Given the description of an element on the screen output the (x, y) to click on. 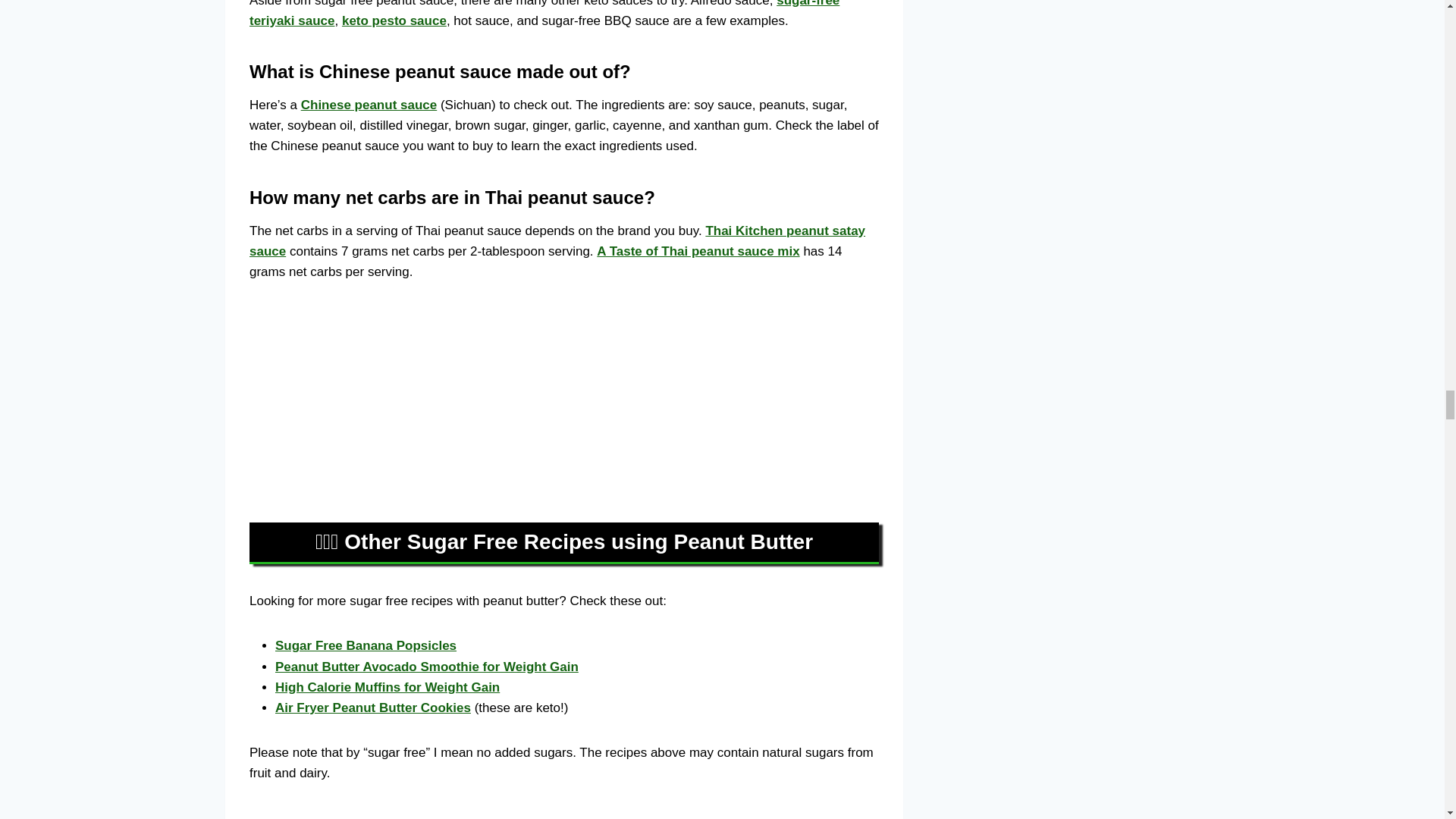
keto pesto sauce (394, 20)
Air Fryer Peanut Butter Cookies (372, 707)
High Calorie Muffins for Weight Gain (387, 687)
Sugar Free Banana Popsicles (366, 645)
Thai Kitchen peanut satay sauce (556, 240)
A Taste of Thai peanut sauce mix (697, 251)
sugar-free teriyaki sauce (544, 13)
Peanut Butter Avocado Smoothie for Weight Gain (426, 667)
Chinese peanut sauce (369, 104)
